Given the description of an element on the screen output the (x, y) to click on. 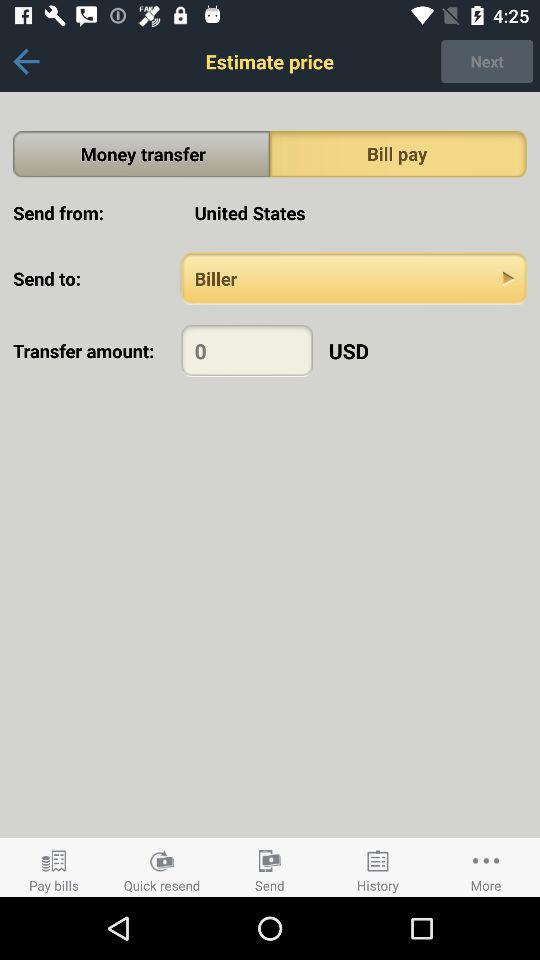
launch app above the send to: (353, 212)
